Given the description of an element on the screen output the (x, y) to click on. 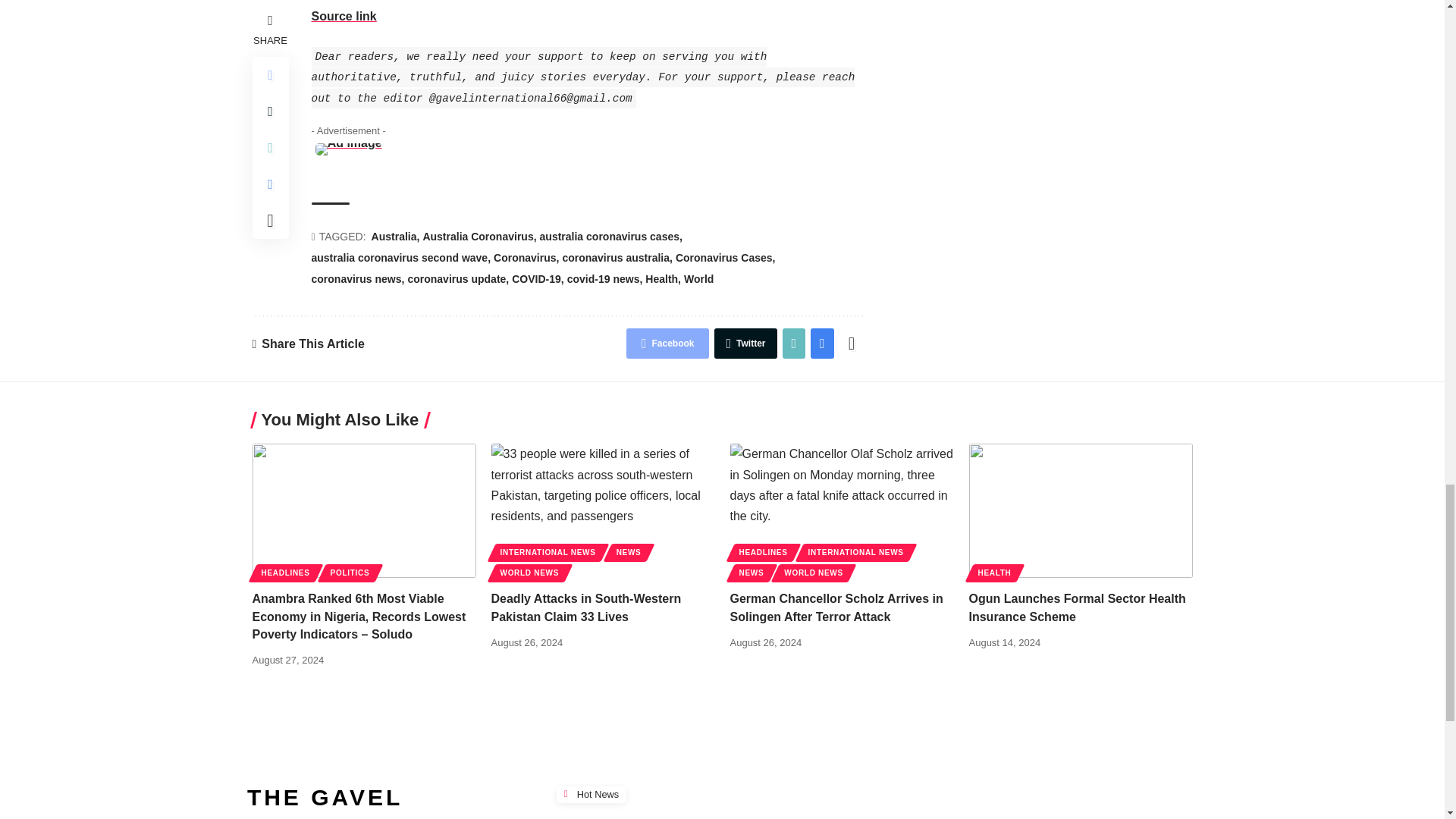
Australia (395, 237)
Coronavirus Cases (725, 258)
Source link (343, 15)
World (698, 280)
coronavirus news (357, 280)
covid-19 news (605, 280)
Ogun Launches Formal Sector Health Insurance Scheme (1080, 510)
COVID-19 (537, 280)
coronavirus australia (617, 258)
